Given the description of an element on the screen output the (x, y) to click on. 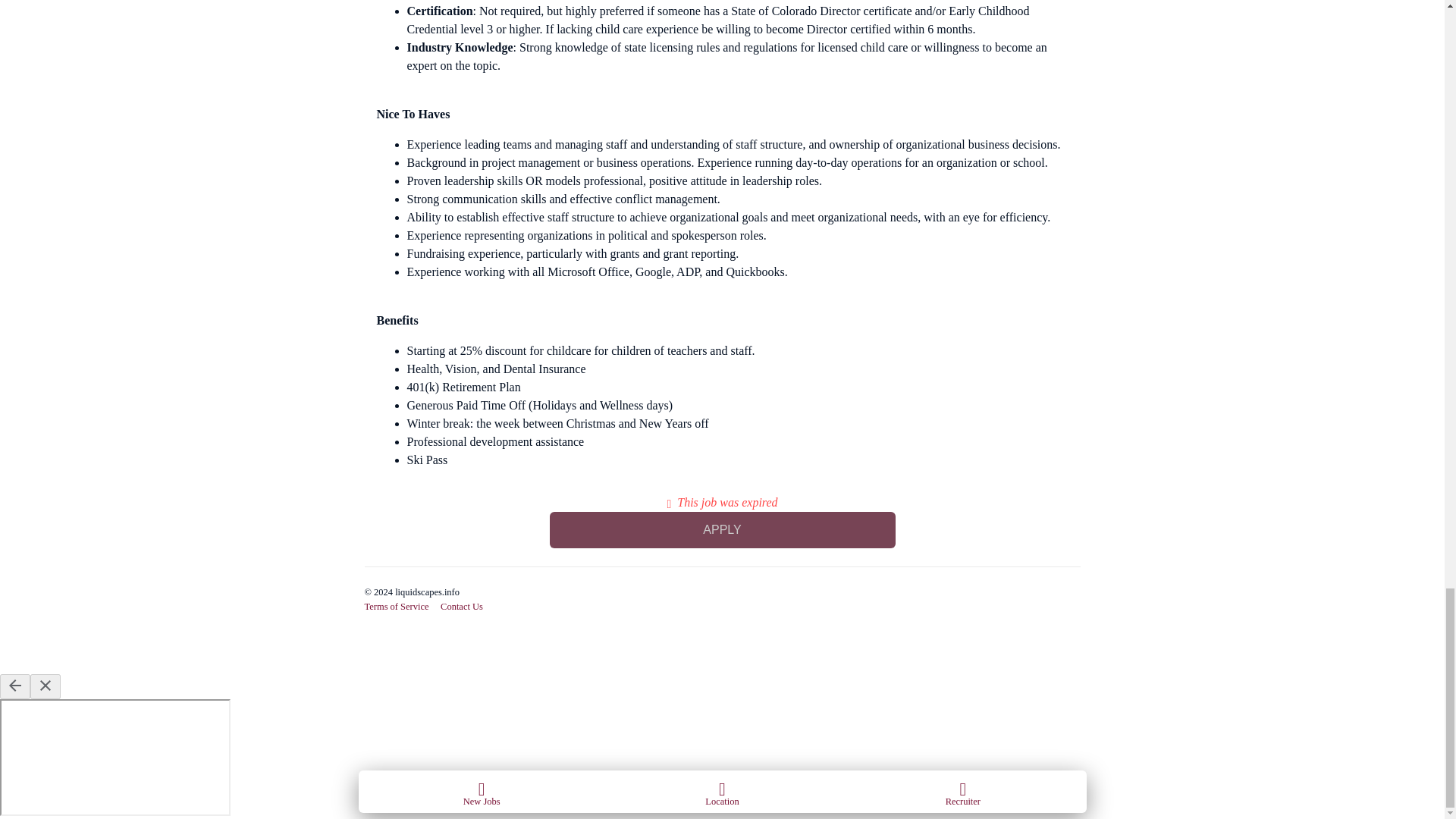
Terms of Service (396, 606)
APPLY (721, 529)
Contact Us (462, 606)
